Given the description of an element on the screen output the (x, y) to click on. 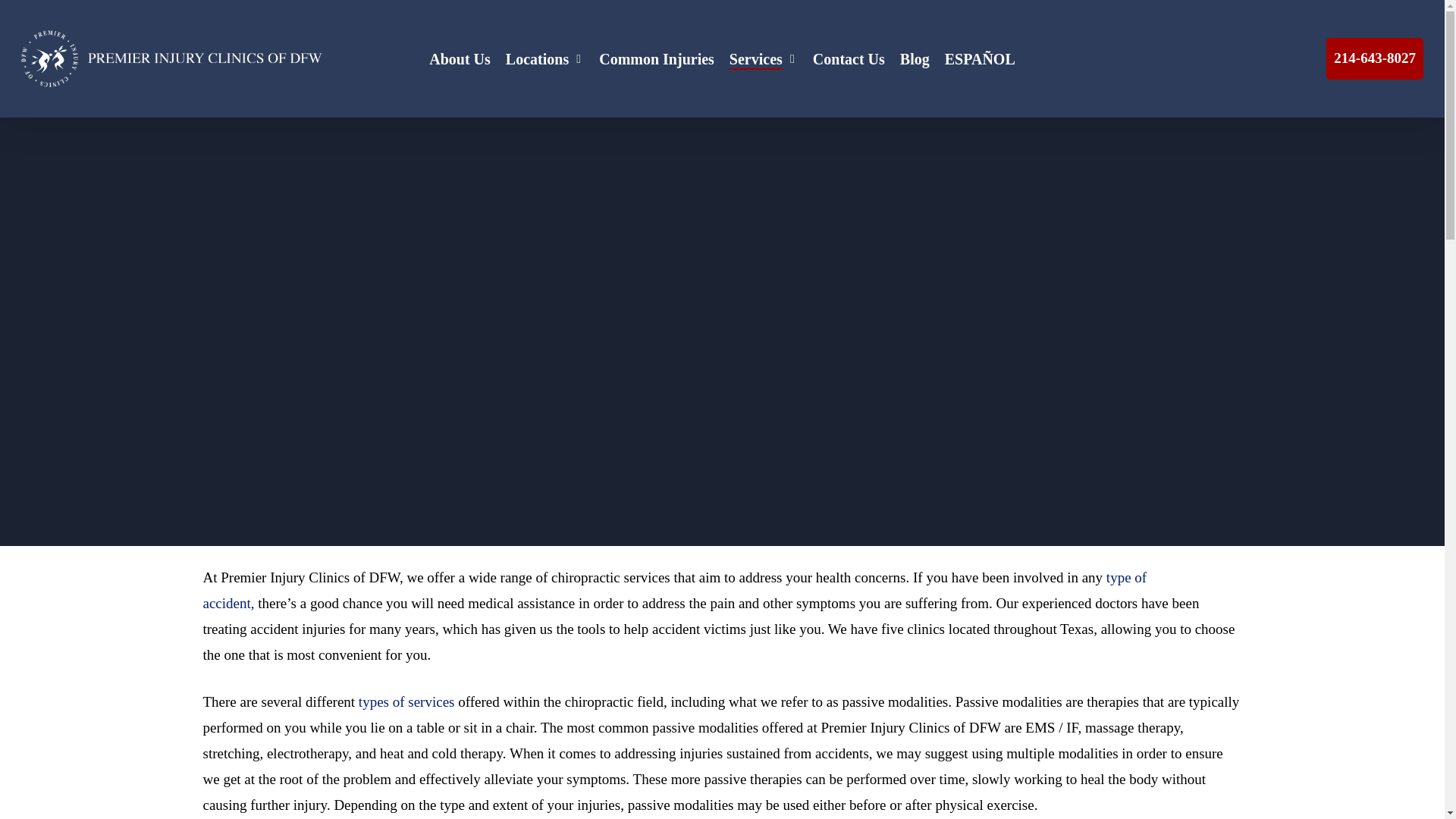
type of accident, (675, 589)
214-643-8027 (1374, 58)
Services (763, 58)
Blog (914, 58)
Locations (544, 58)
types of services (406, 701)
About Us (459, 58)
Contact Us (848, 58)
Common Injuries (656, 58)
